Given the description of an element on the screen output the (x, y) to click on. 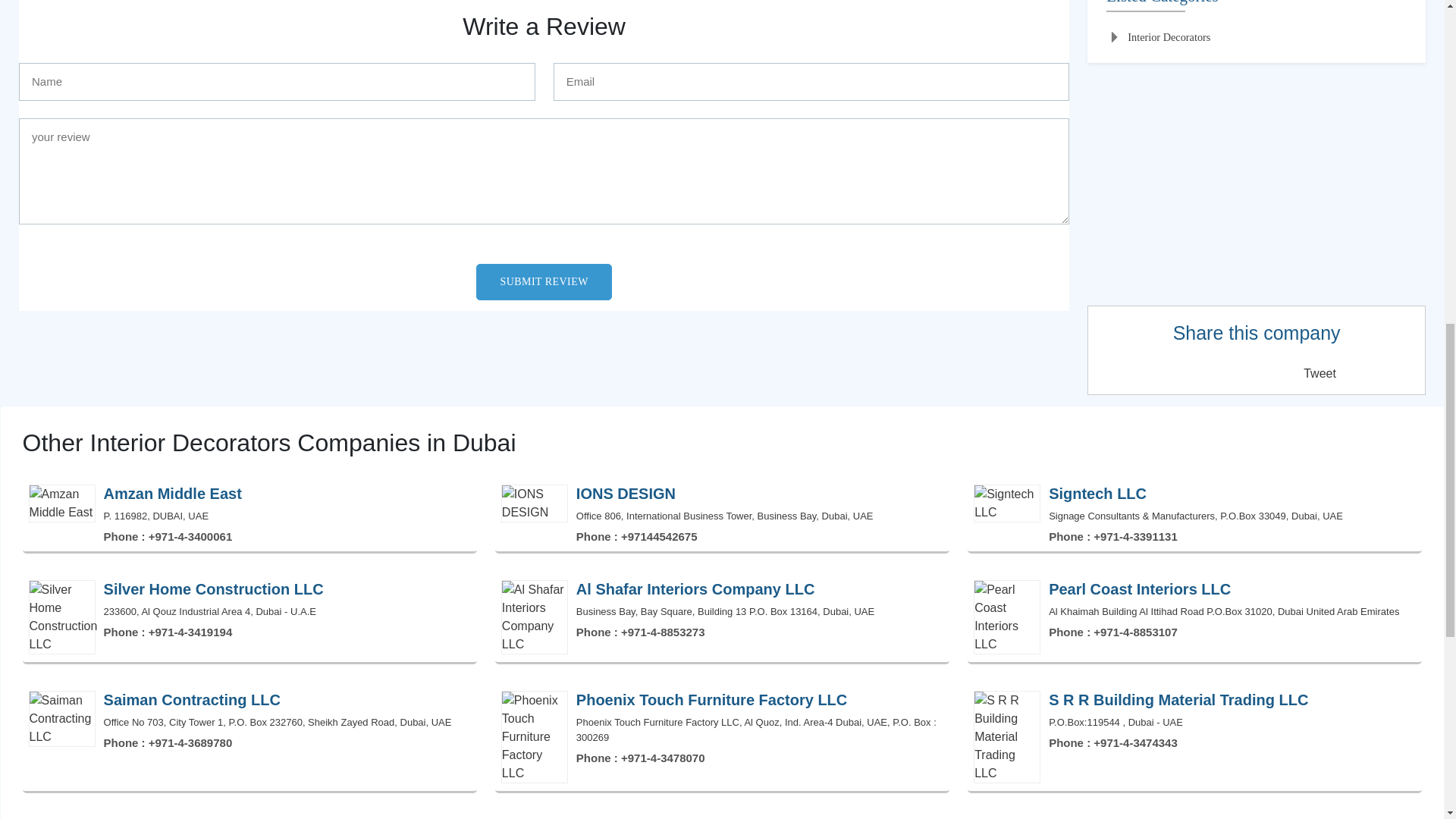
Amzan Middle East (250, 514)
Tweet (1319, 373)
 Interior Decorators Companies in Dubai (722, 442)
Write a review to Green Curve Interiors LLC (543, 26)
Interior Decorators (1157, 37)
IONS DESIGN (722, 514)
Submit Review (543, 281)
list of companies in Interior Decorators (1157, 37)
Green Curve Interiors LLC listed in category  (1256, 6)
